Given the description of an element on the screen output the (x, y) to click on. 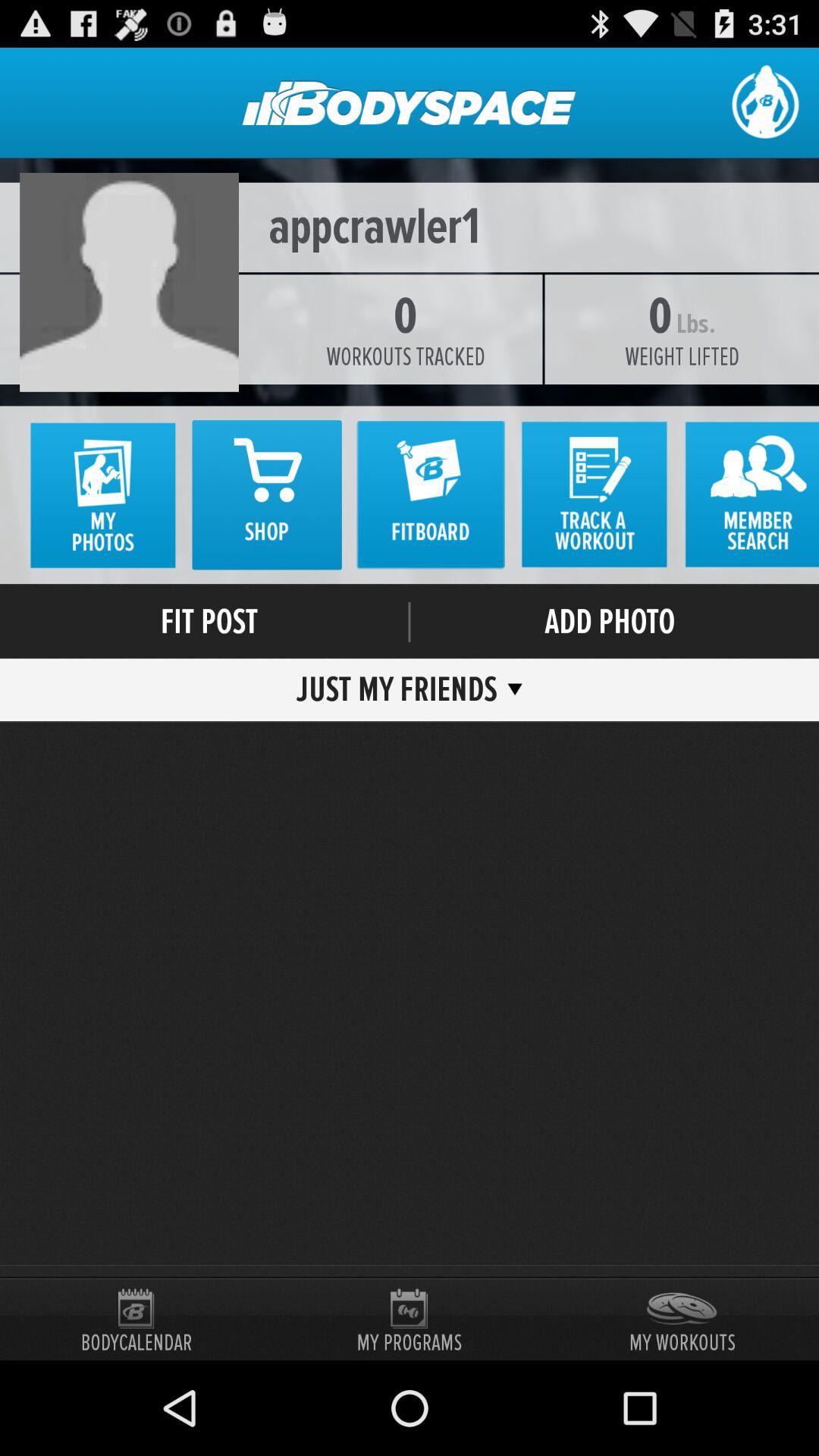
press the item above just my friends item (409, 622)
